Given the description of an element on the screen output the (x, y) to click on. 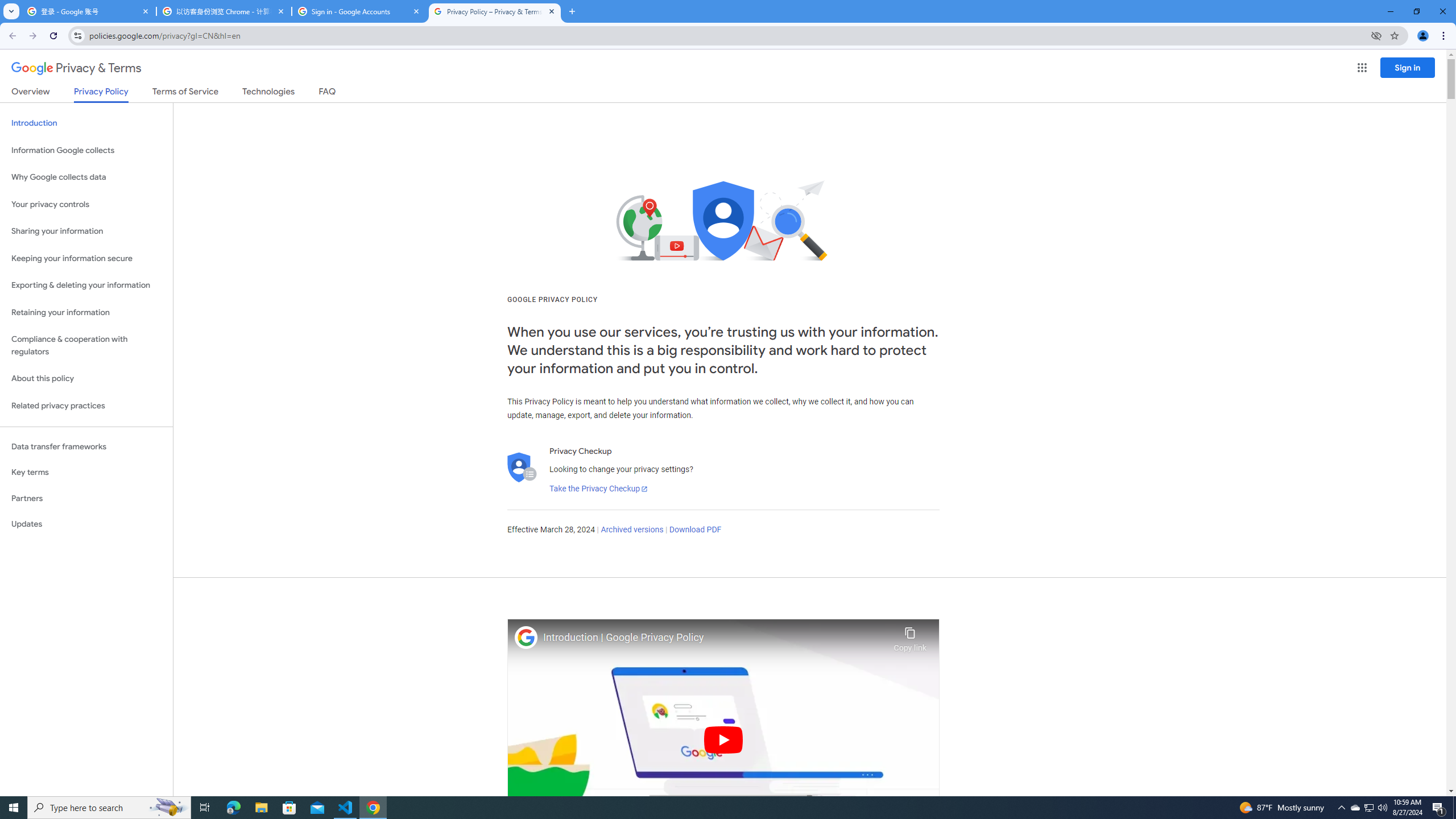
Copy link (909, 636)
Archived versions (631, 529)
Exporting & deleting your information (86, 284)
